Given the description of an element on the screen output the (x, y) to click on. 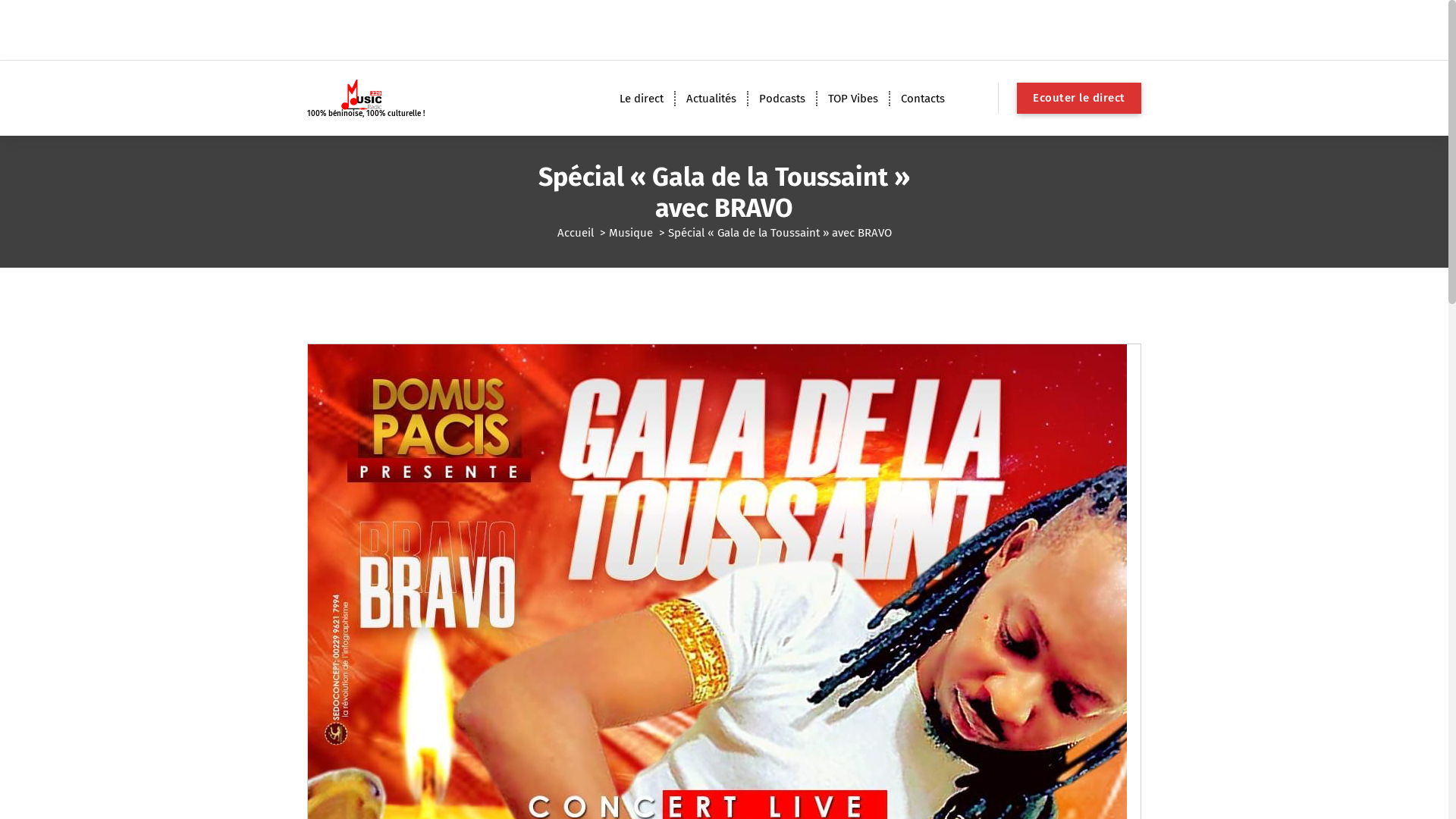
E
c
o
u
t
e
r
 l
e
 d
i
r
e
c
t Element type: text (1078, 97)
Podcasts Element type: text (781, 98)
TOP Vibes Element type: text (852, 98)
Contacts Element type: text (922, 98)
Le direct Element type: text (641, 98)
Accueil Element type: text (574, 232)
Musique Element type: text (630, 232)
